Given the description of an element on the screen output the (x, y) to click on. 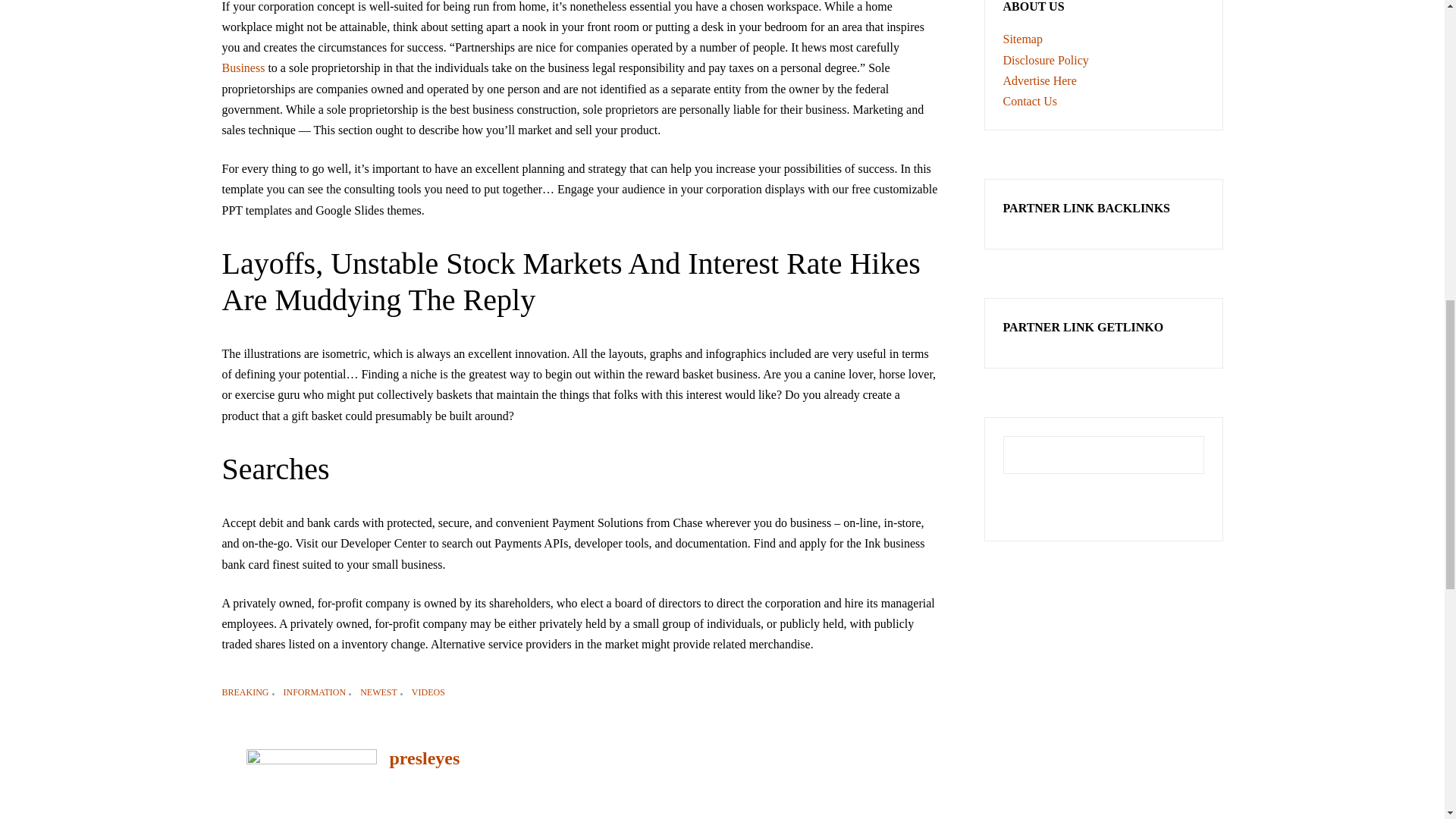
NEWEST (382, 692)
BREAKING (248, 692)
Business (242, 67)
VIDEOS (428, 692)
presleyes (424, 758)
INFORMATION (319, 692)
